Given the description of an element on the screen output the (x, y) to click on. 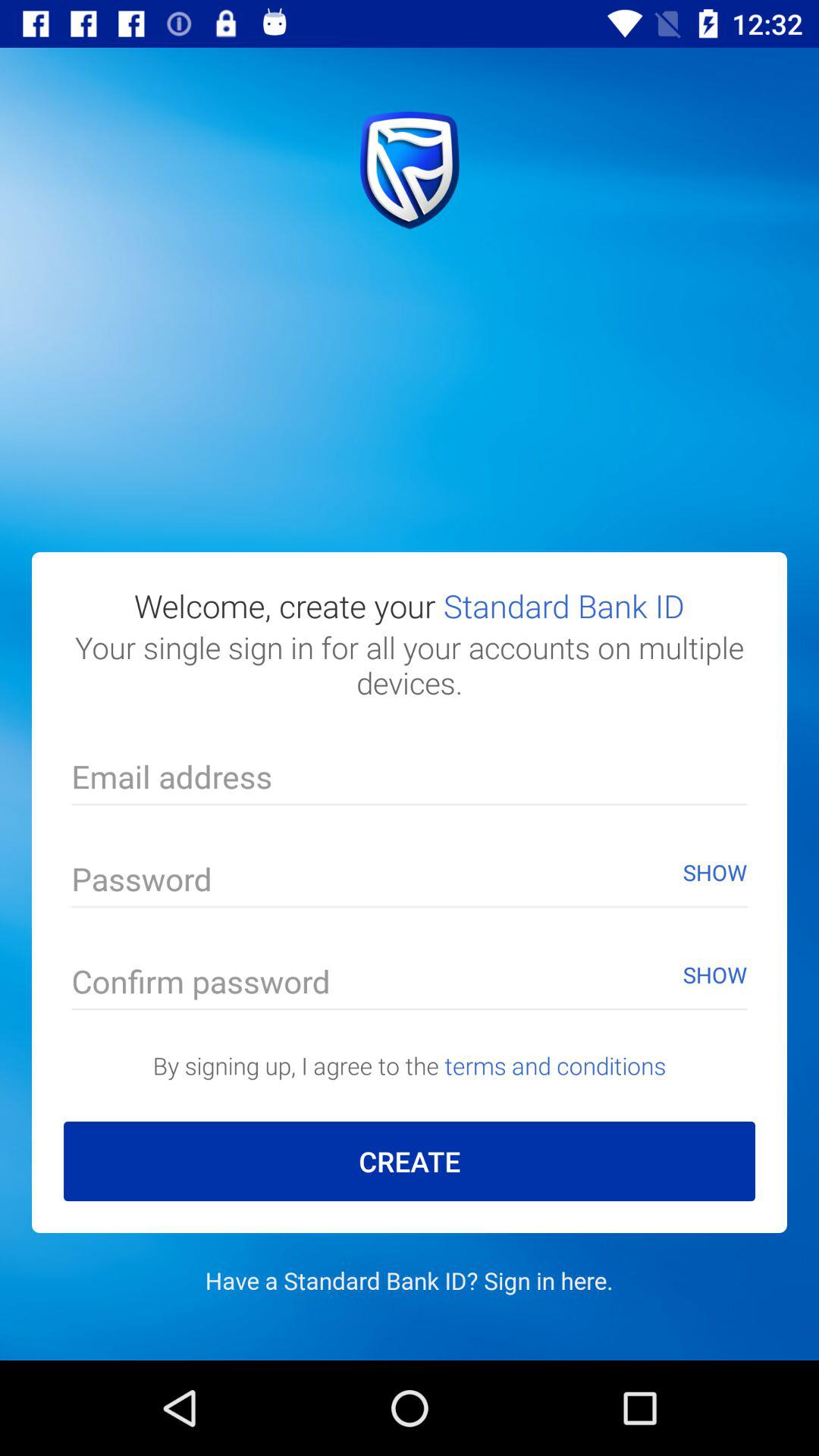
turn off the icon above the create (409, 1065)
